Given the description of an element on the screen output the (x, y) to click on. 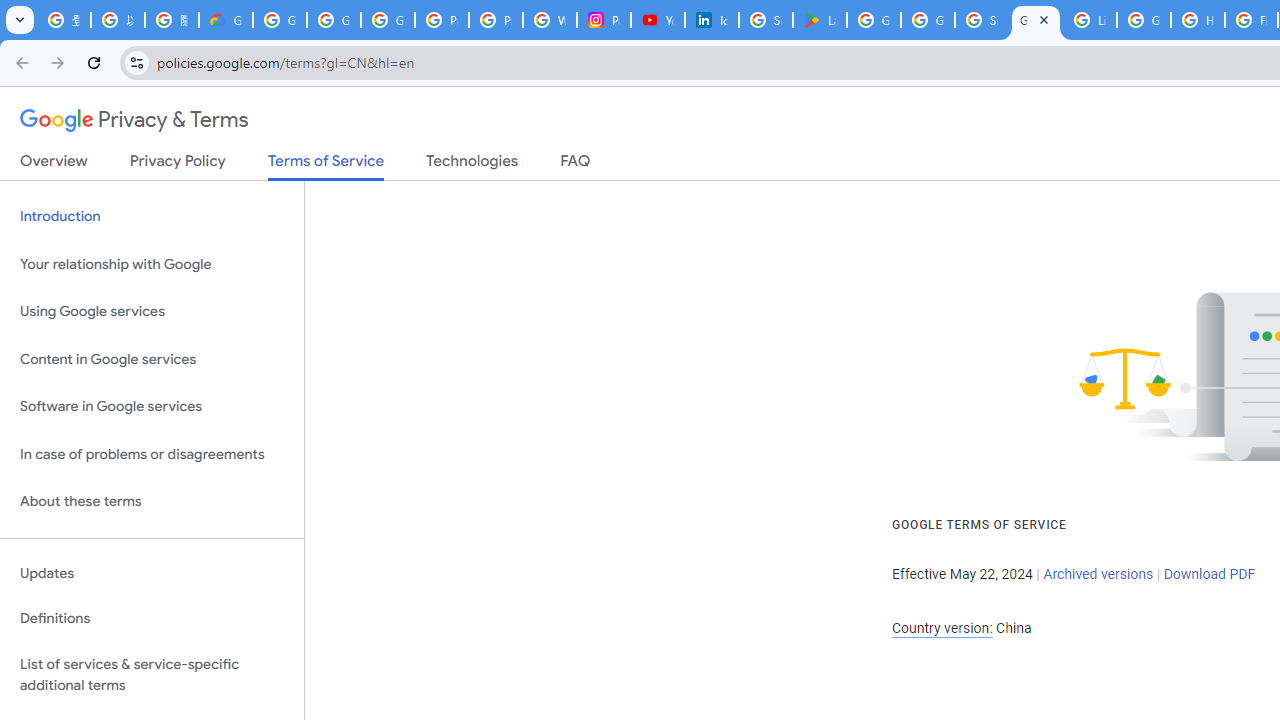
Google Workspace - Specific Terms (927, 20)
